Given the description of an element on the screen output the (x, y) to click on. 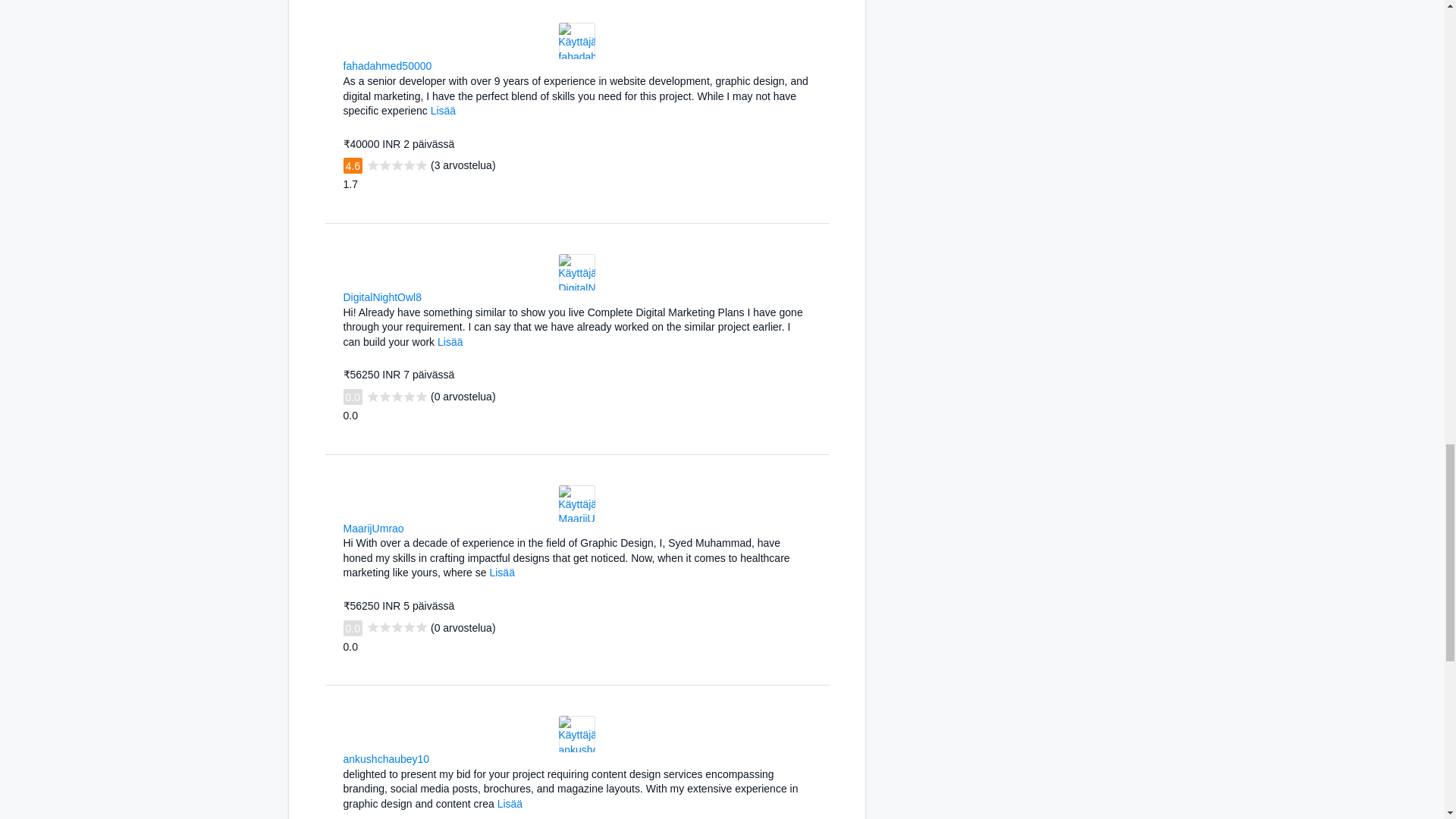
MaarijUmrao (372, 528)
ankushchaubey10 (385, 758)
India (438, 757)
Pakistan (440, 64)
fahadahmed50000 (386, 65)
Pakistan (413, 527)
DigitalNightOwl8 (381, 297)
India (431, 296)
